Given the description of an element on the screen output the (x, y) to click on. 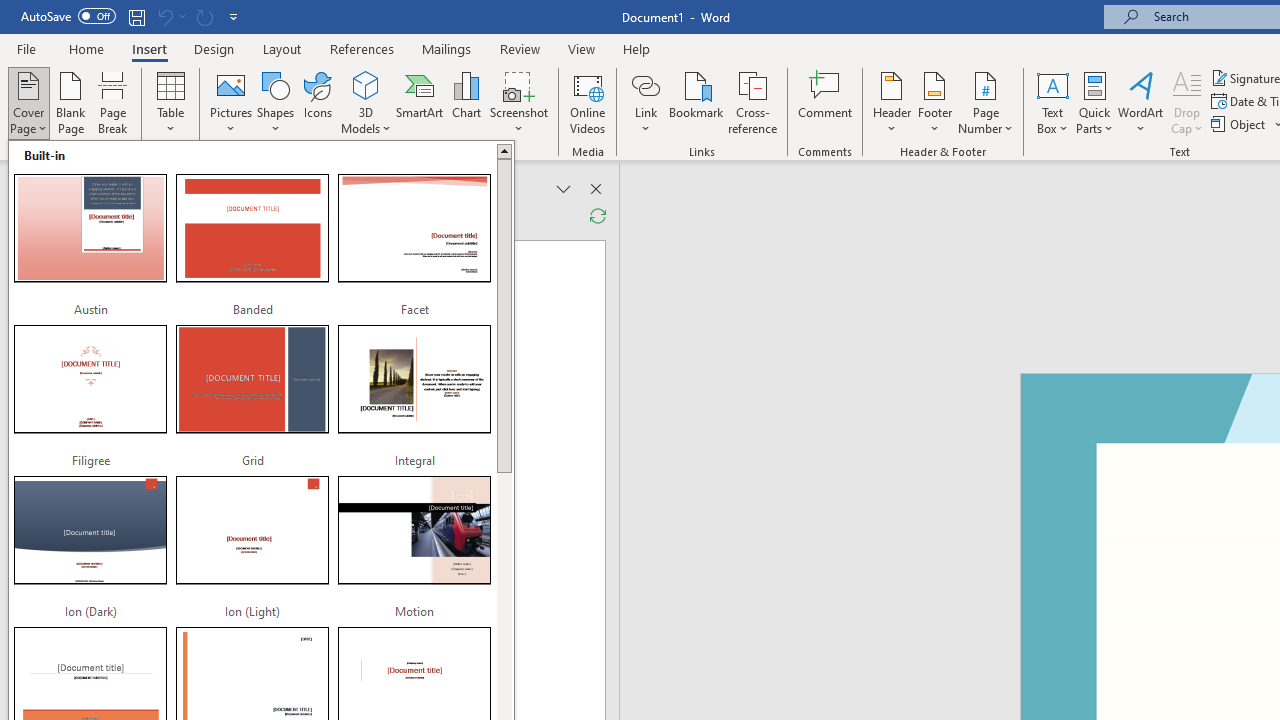
Screenshot (518, 102)
Online Videos... (588, 102)
SmartArt... (419, 102)
Bookmark... (695, 102)
